Given the description of an element on the screen output the (x, y) to click on. 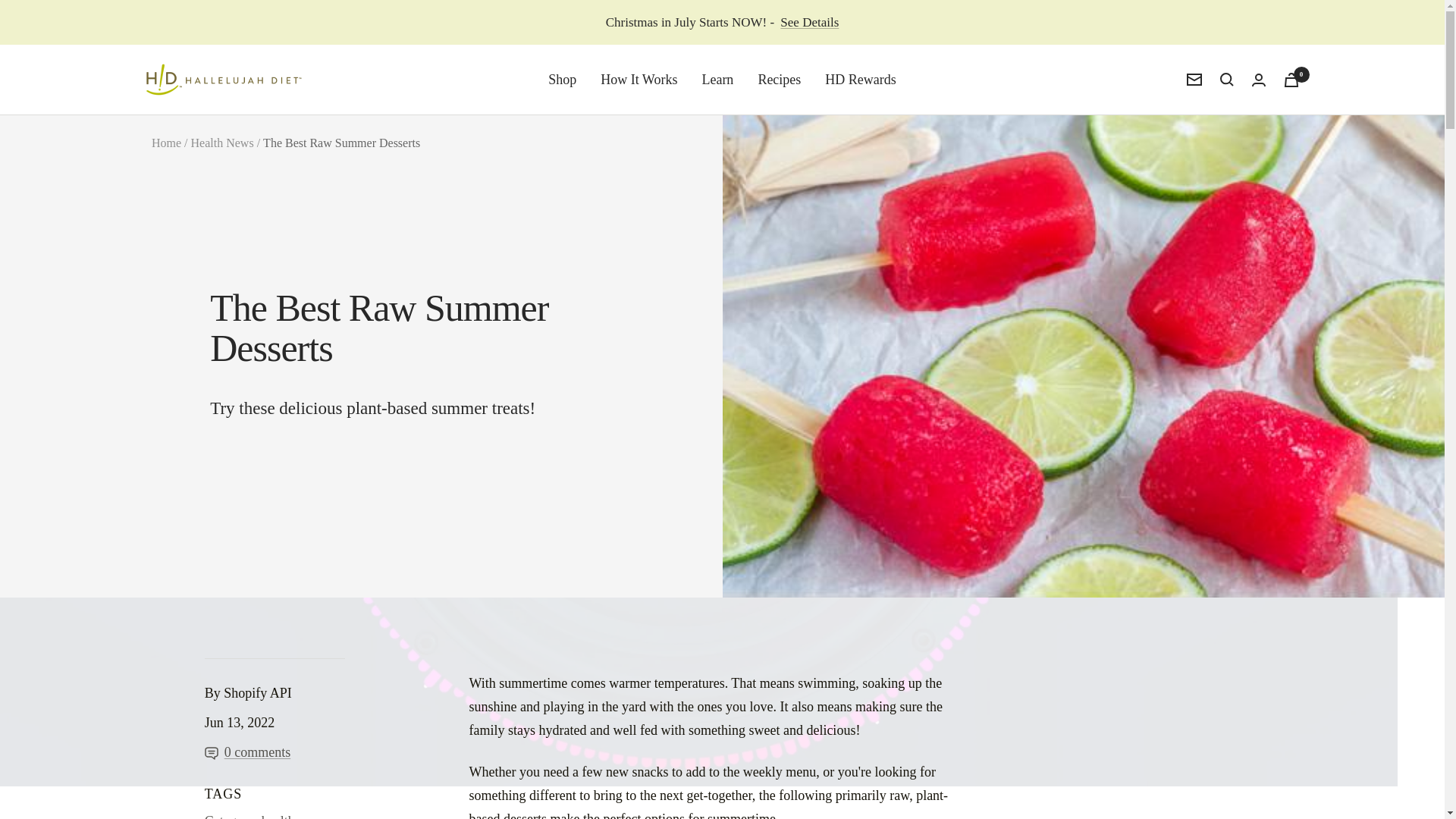
Recipes (778, 79)
Hallelujah Diet (223, 79)
Newsletter (1194, 79)
How It Works (638, 79)
0 (1291, 79)
HD Rewards (860, 79)
Shop (562, 79)
See Details (809, 22)
Learn (717, 79)
